Given the description of an element on the screen output the (x, y) to click on. 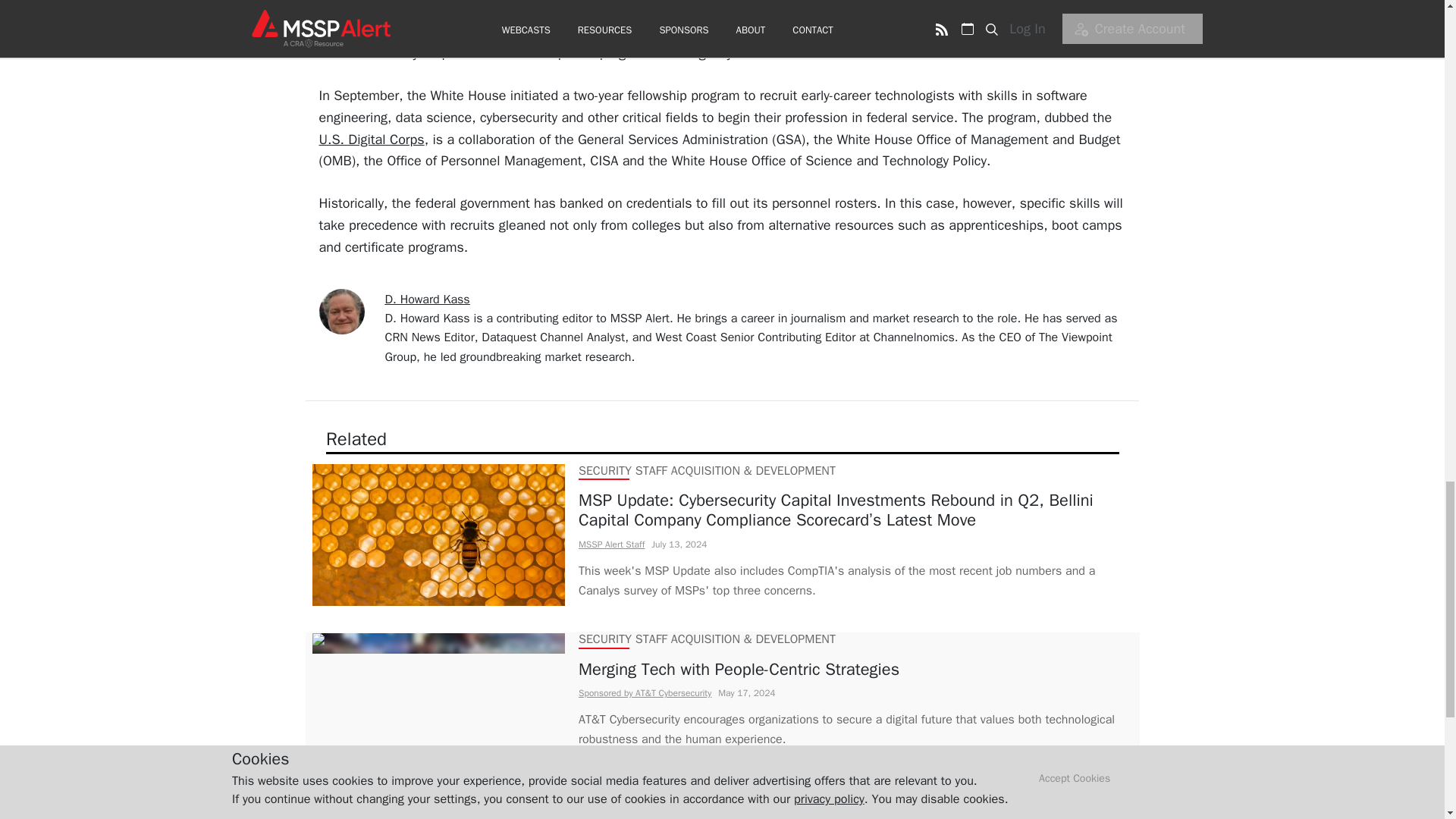
Merging Tech with People-Centric Strategies (855, 669)
U.S. Digital Corps (370, 139)
MSSPs Assess How AI Can Impact Their Operations (855, 813)
D. Howard Kass (427, 299)
MSSP Alert Staff (610, 544)
